Given the description of an element on the screen output the (x, y) to click on. 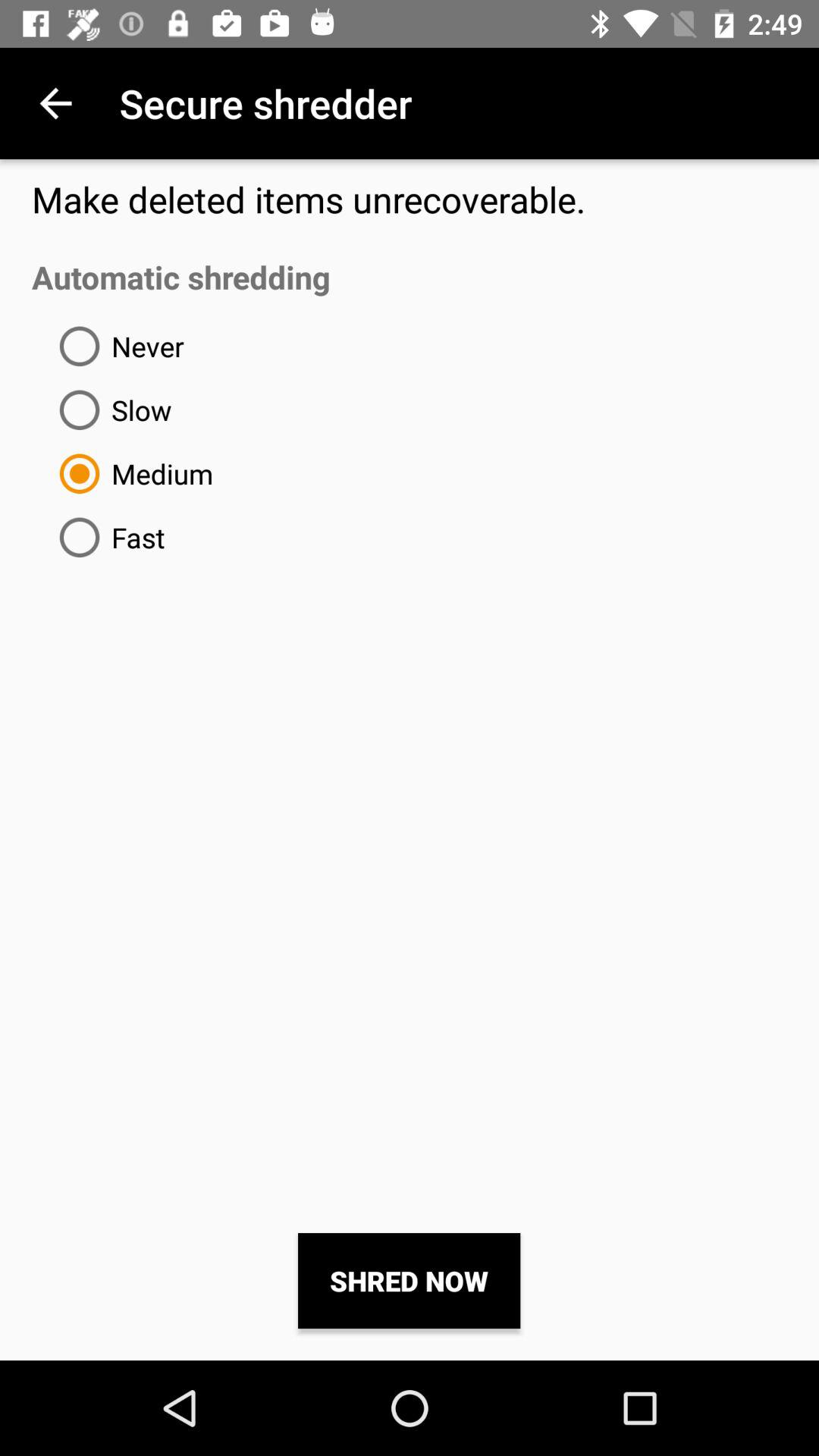
choose the item below medium icon (105, 537)
